Given the description of an element on the screen output the (x, y) to click on. 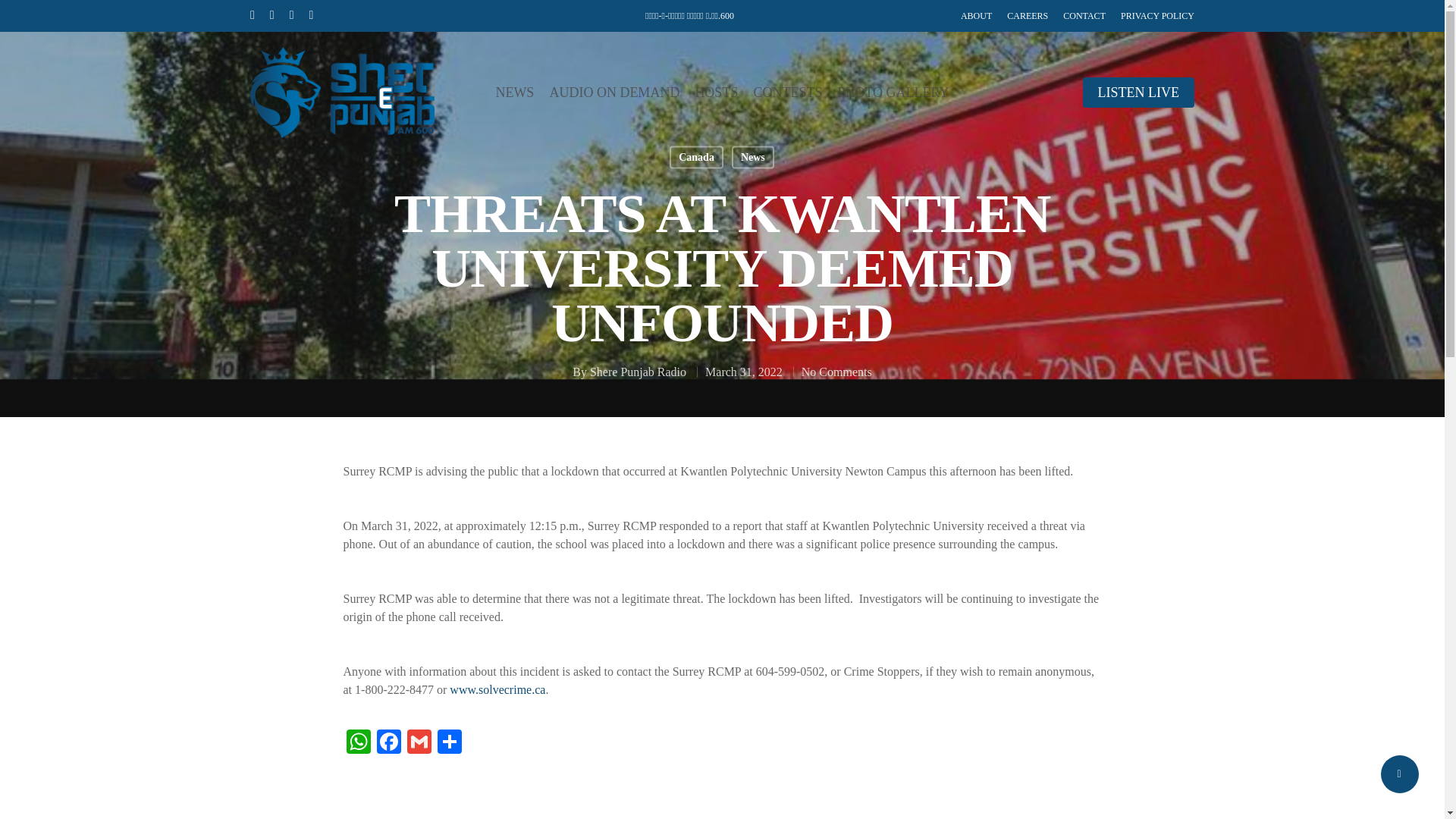
ABOUT (975, 15)
AUDIO ON DEMAND (613, 92)
LISTEN LIVE (1138, 92)
News (753, 156)
NEWS (514, 92)
WhatsApp (357, 743)
HOSTS (716, 92)
Gmail (418, 743)
Facebook (387, 743)
PRIVACY POLICY (1157, 15)
